Given the description of an element on the screen output the (x, y) to click on. 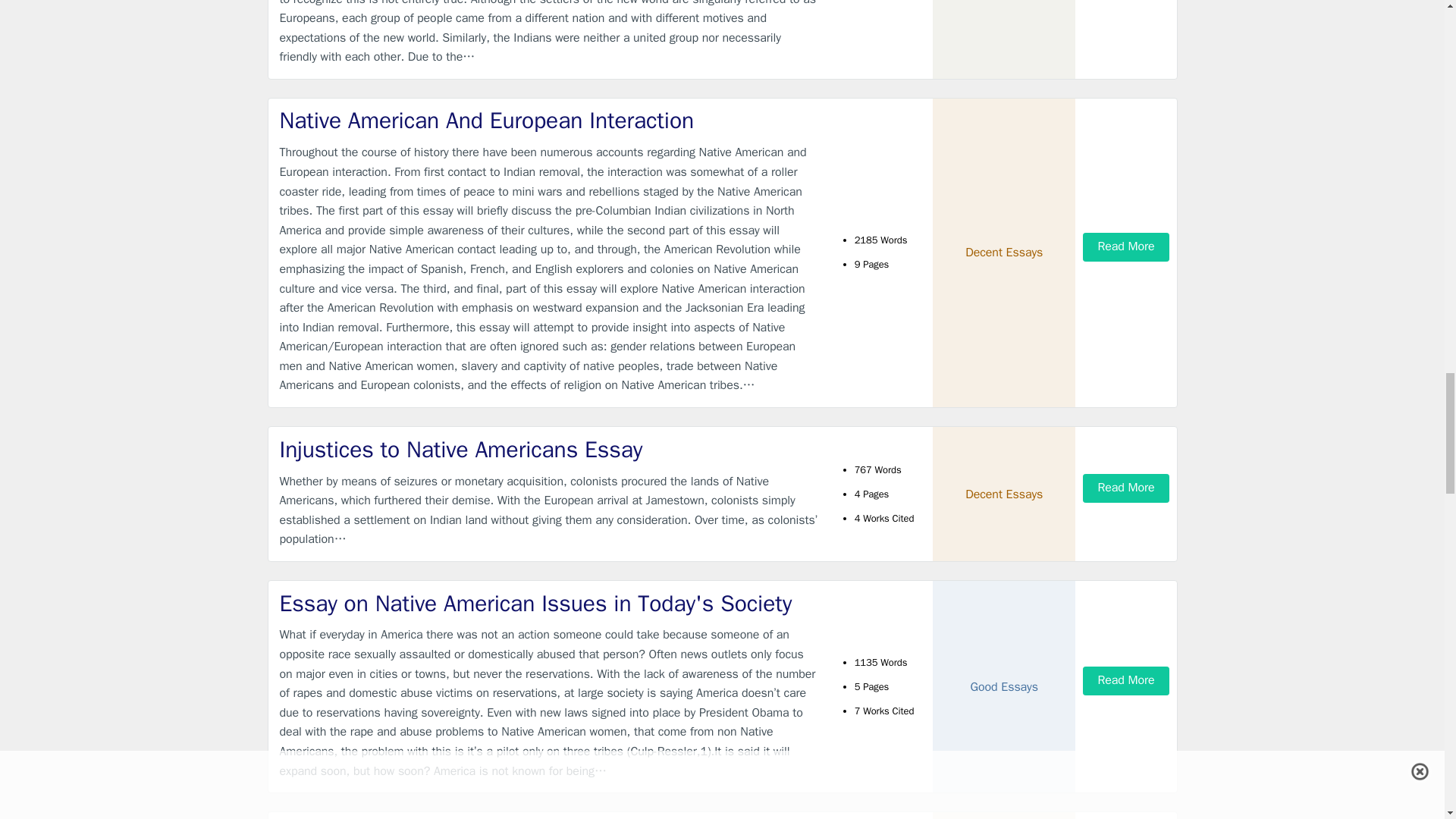
Native American And European Interaction (548, 120)
Essay on Native American Issues in Today's Society (548, 603)
Injustices to Native Americans Essay (548, 450)
Read More (1126, 246)
Read More (1126, 488)
